Given the description of an element on the screen output the (x, y) to click on. 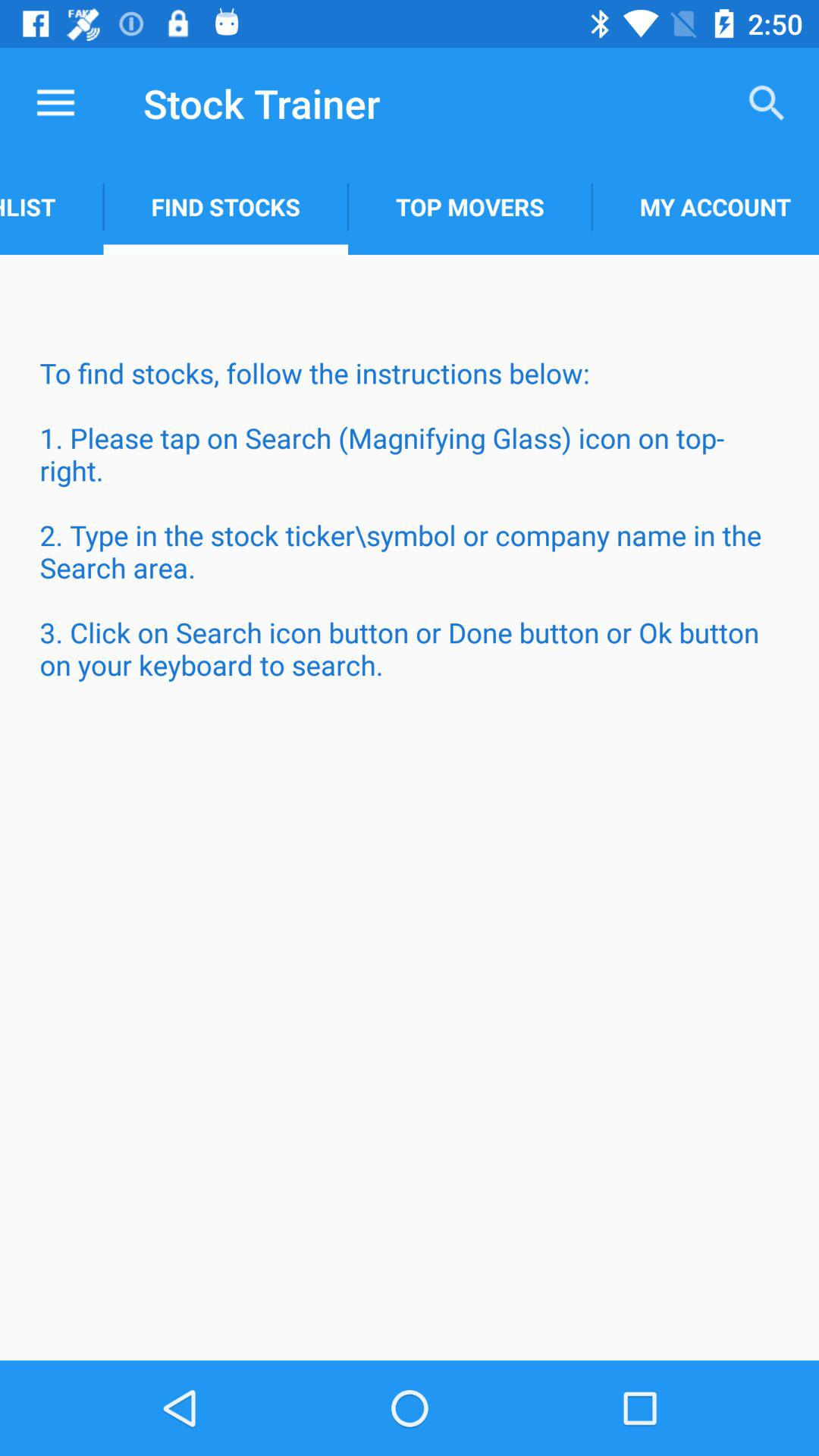
tap icon to the right of the find stocks (470, 206)
